Given the description of an element on the screen output the (x, y) to click on. 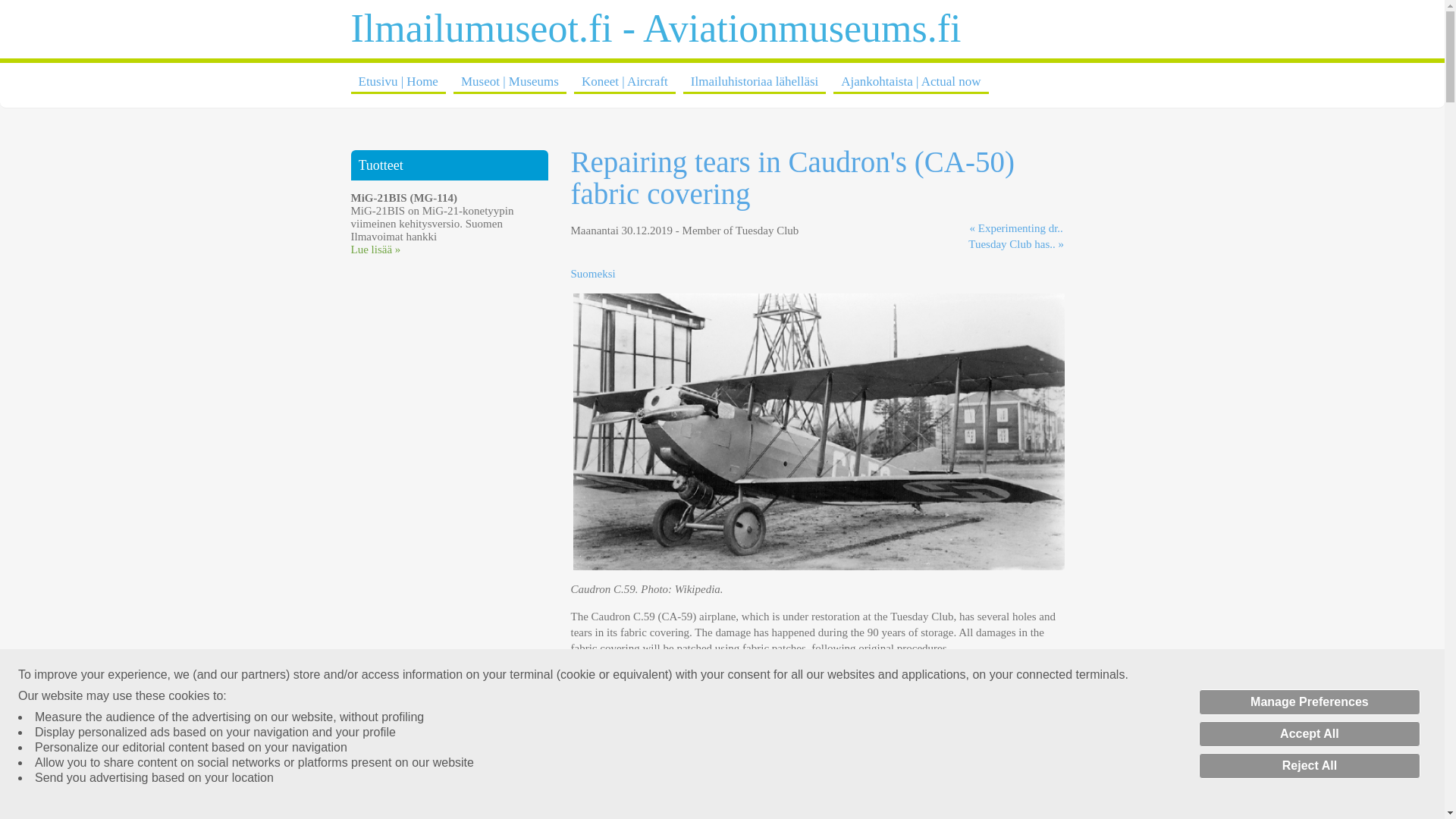
Accept All (1309, 733)
Reject All (1309, 765)
Manage Preferences (1309, 701)
